Given the description of an element on the screen output the (x, y) to click on. 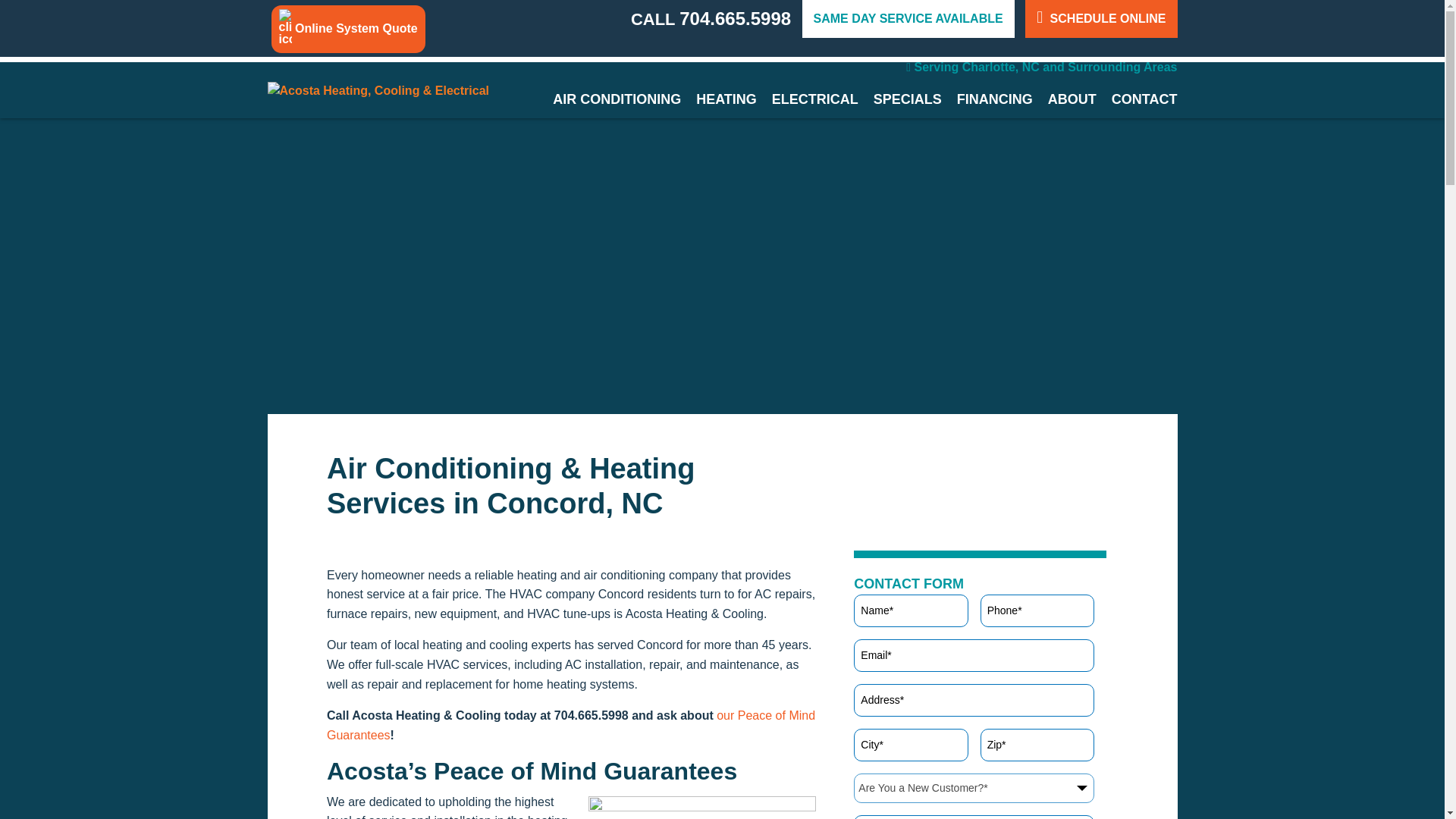
Submit (935, 523)
Online System Quote (348, 29)
HEATING (726, 99)
SAME DAY SERVICE AVAILABLE (908, 18)
704.665.5998 (734, 18)
SCHEDULE ONLINE (1100, 18)
AIR CONDITIONING (616, 99)
